Given the description of an element on the screen output the (x, y) to click on. 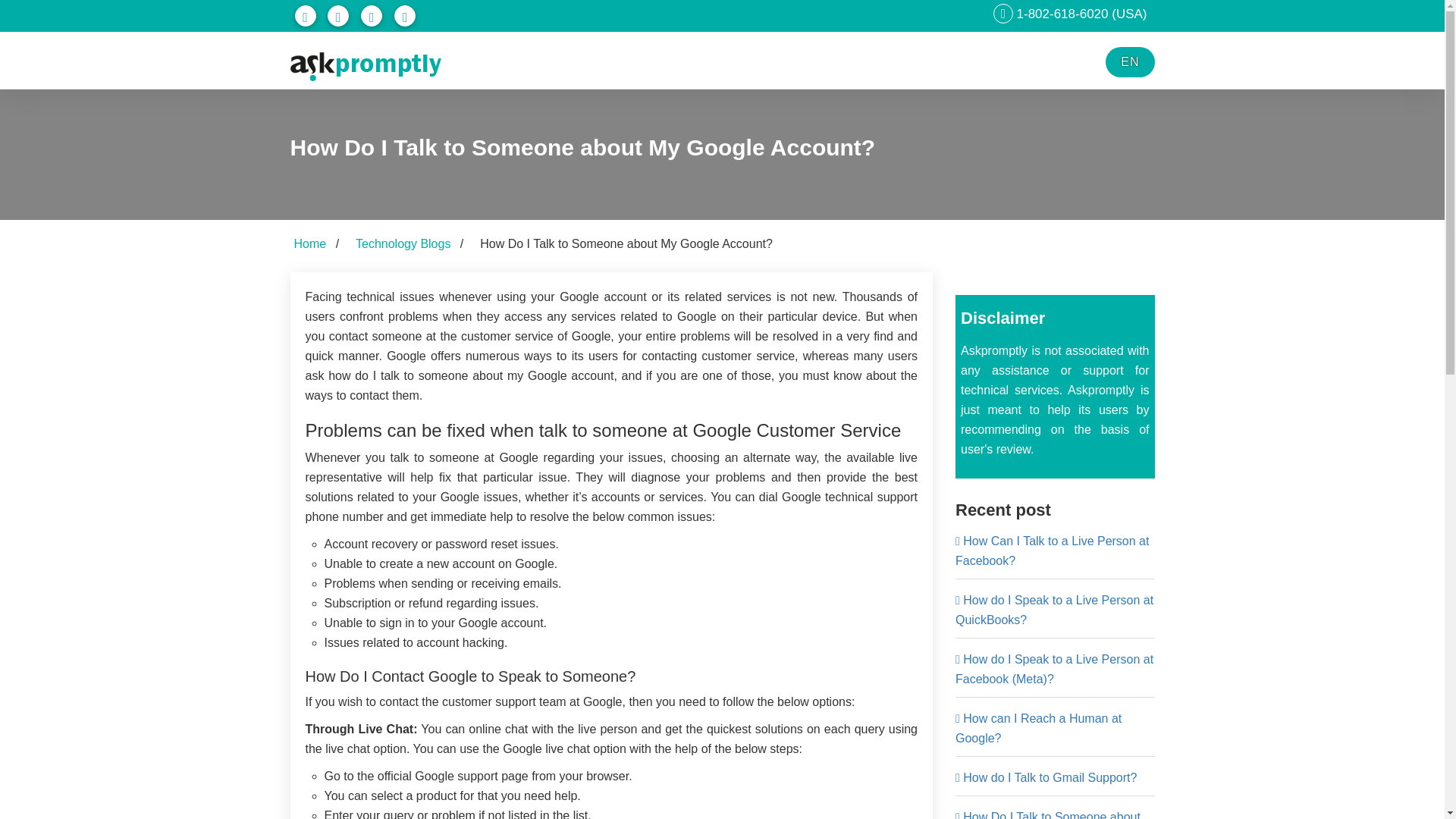
How Can I Talk to a Live Person at Facebook? (1051, 550)
EN (1129, 61)
Home (310, 243)
Technology Blogs (402, 243)
How Do I Talk to Someone about My Google Account? (1047, 814)
How can I Reach a Human at Google? (1038, 727)
How do I Speak to a Live Person at QuickBooks? (1054, 609)
How do I Talk to Gmail Support? (1046, 777)
